Given the description of an element on the screen output the (x, y) to click on. 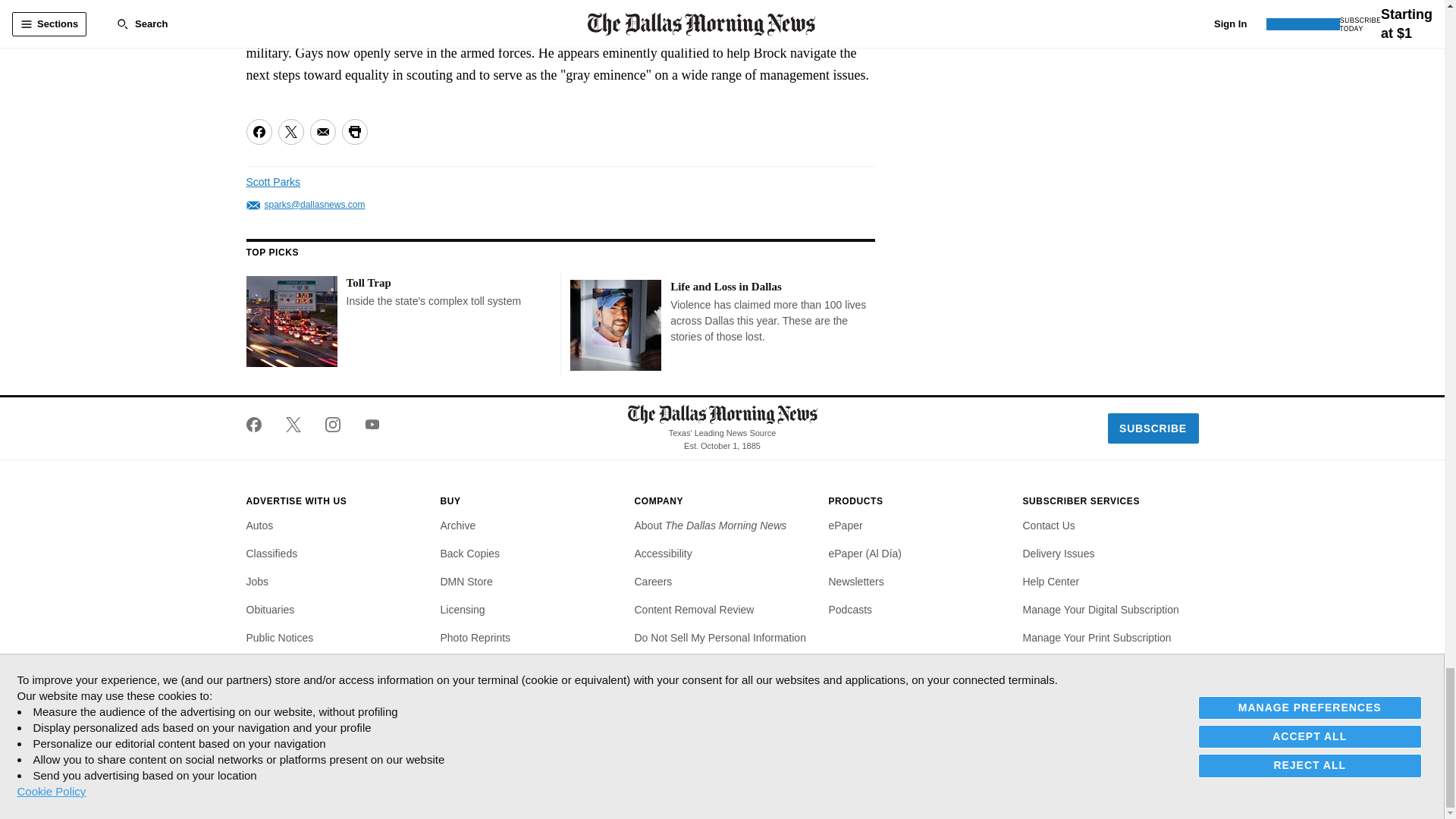
Share on Facebook (258, 131)
The Dallas Morning News on Facebook (259, 424)
Print (353, 131)
The Dallas Morning News on YouTube (365, 424)
The Dallas Morning News on Instagram (332, 424)
Share via Email (321, 131)
The Dallas Morning News on Twitter (293, 424)
Share on Twitter (290, 131)
